Given the description of an element on the screen output the (x, y) to click on. 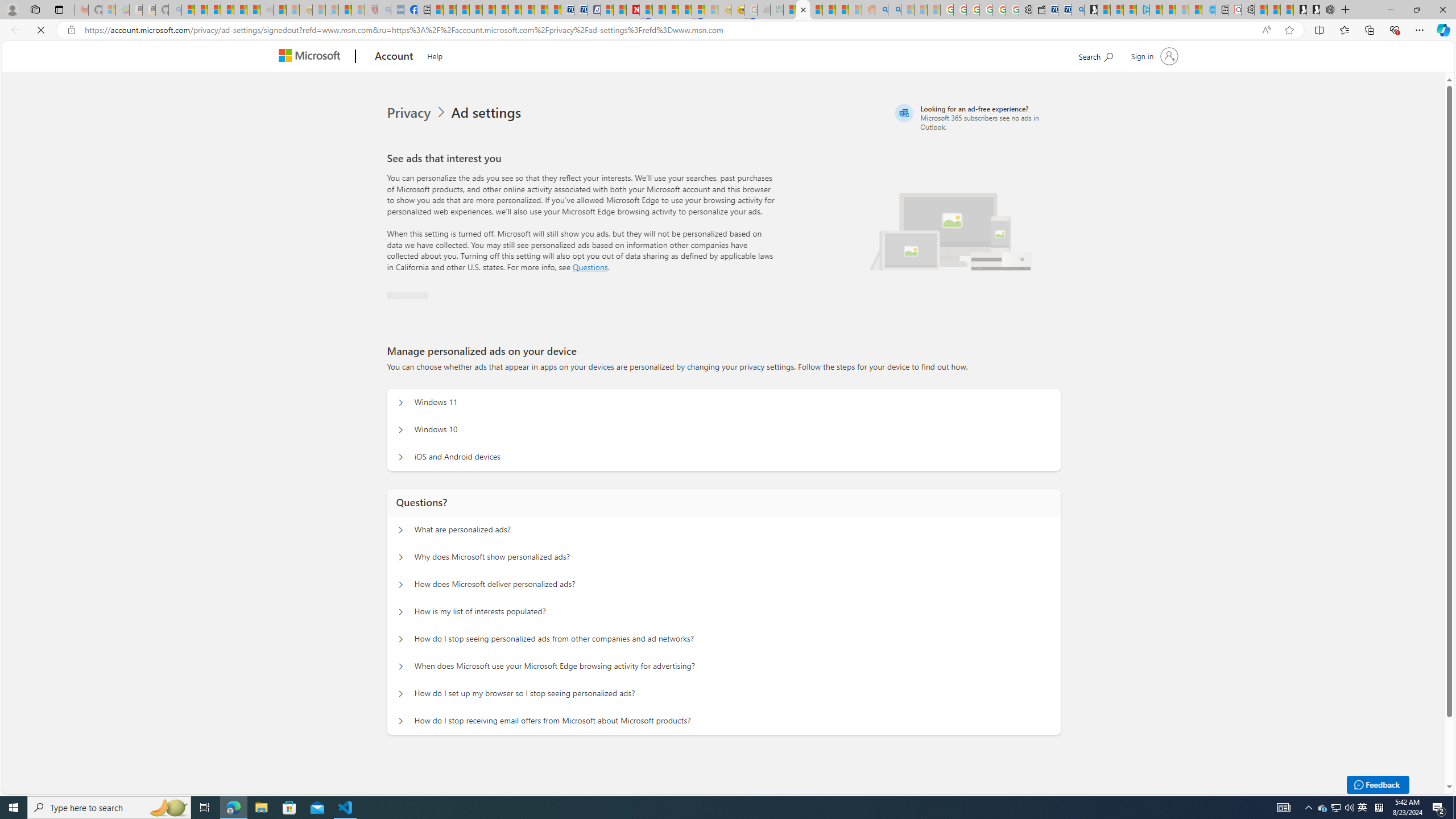
Go to Questions section (590, 266)
Bing Real Estate - Home sales and rental listings (1077, 9)
